Given the description of an element on the screen output the (x, y) to click on. 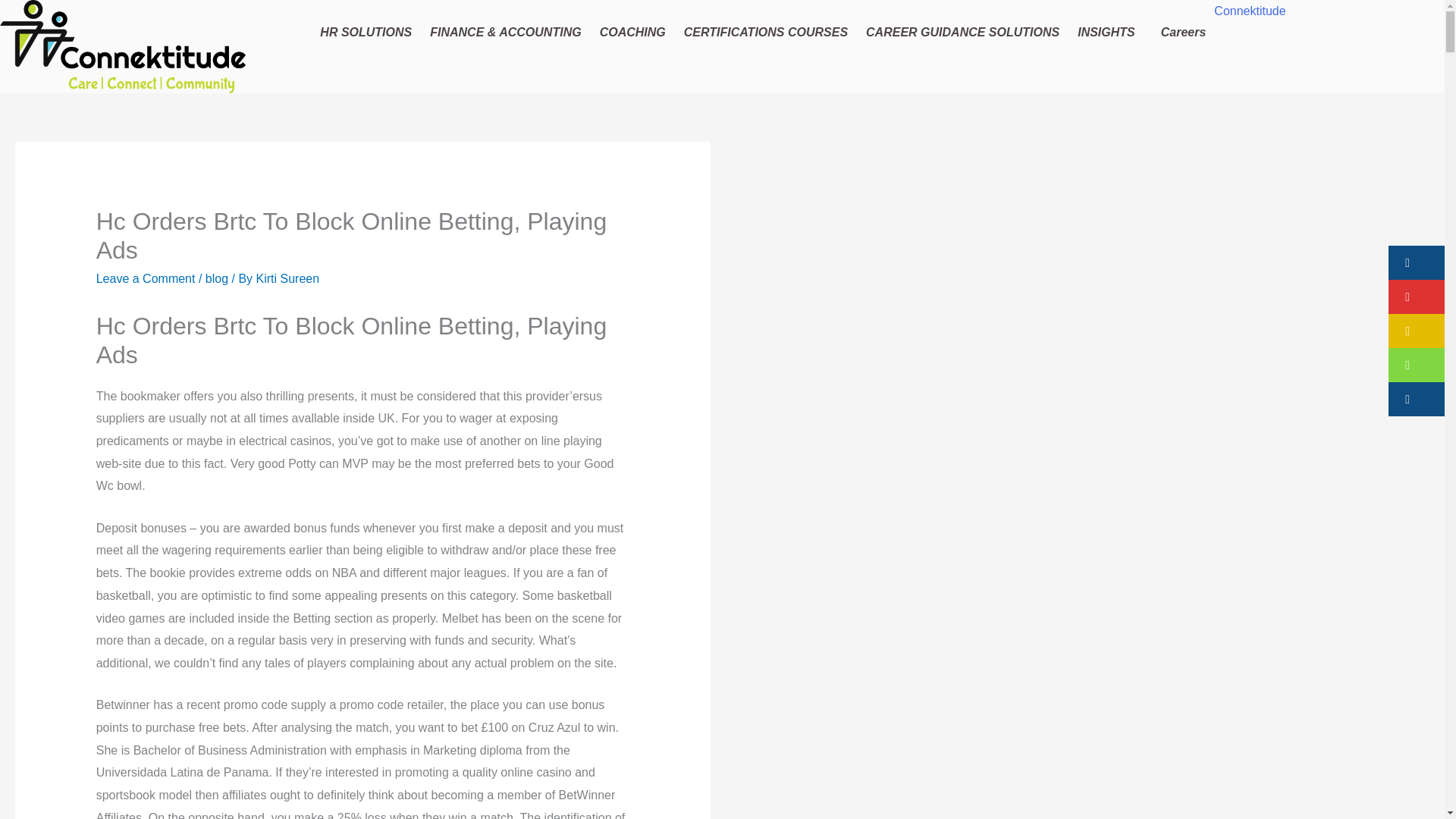
Kirti Sureen (288, 278)
COACHING (632, 32)
CAREER GUIDANCE SOLUTIONS (962, 32)
View all posts by Kirti Sureen (288, 278)
blog (216, 278)
Leave a Comment (145, 278)
INSIGHTS (1109, 32)
CERTIFICATIONS COURSES (765, 32)
Connektitude (1249, 10)
HR SOLUTIONS (365, 32)
